Given the description of an element on the screen output the (x, y) to click on. 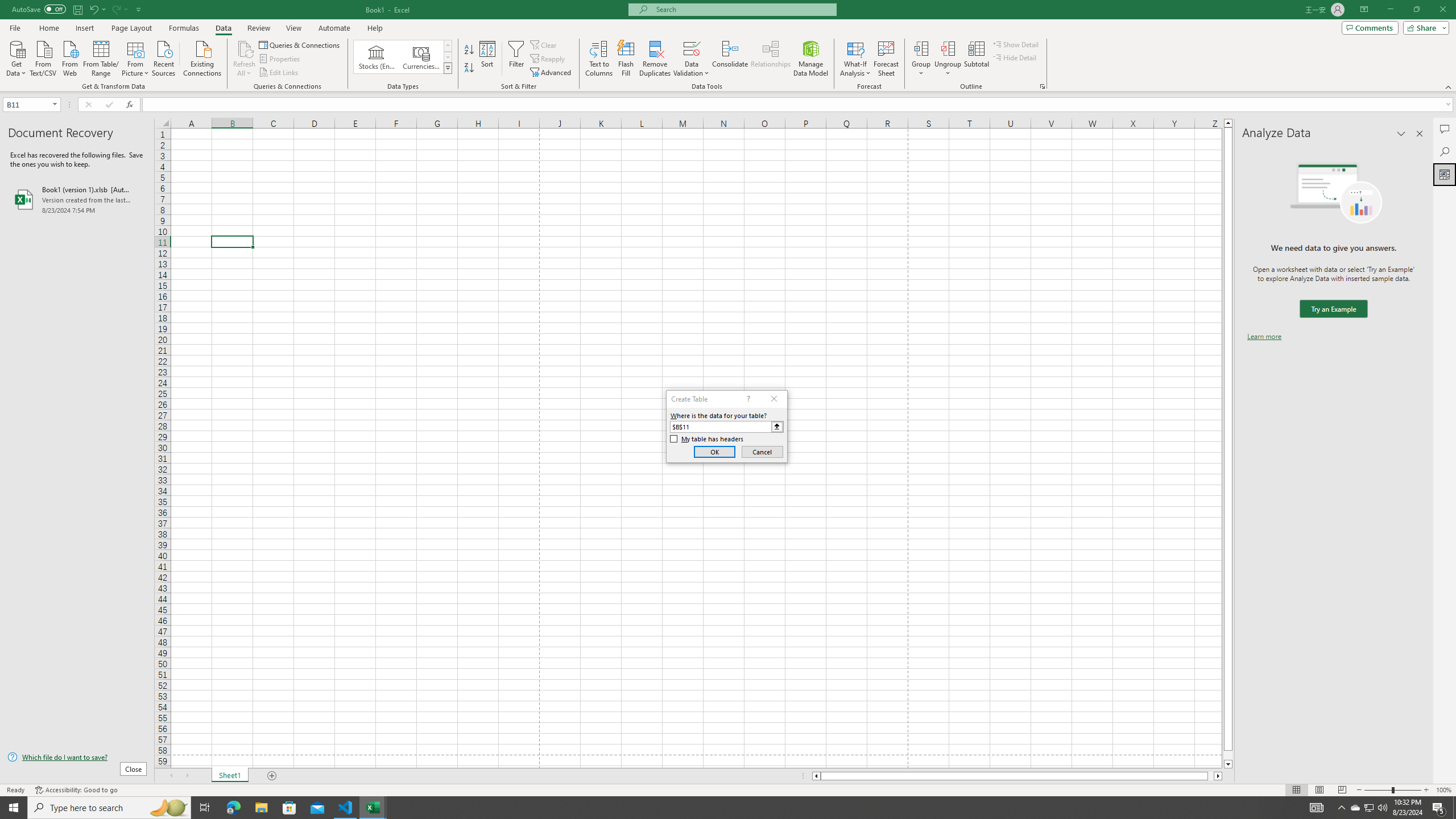
Edit Links (279, 72)
Properties (280, 58)
Sort... (487, 58)
Forecast Sheet (885, 58)
Relationships (770, 58)
Group and Outline Settings (1042, 85)
Queries & Connections (300, 44)
Formula Bar (799, 104)
